Given the description of an element on the screen output the (x, y) to click on. 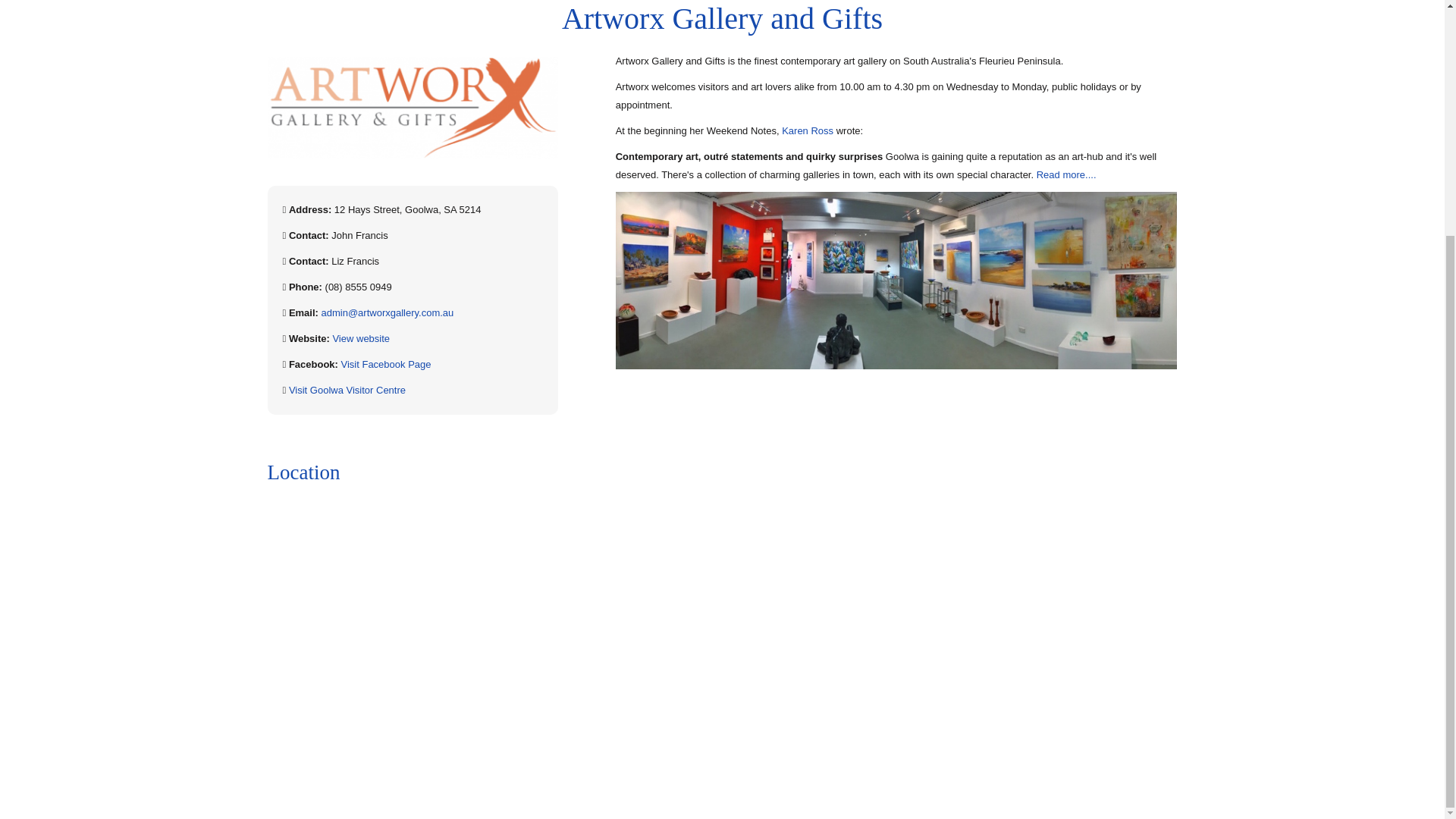
Visit Facebook Page (385, 364)
Read more.... (1066, 174)
Karen Ross (806, 130)
Visit Goolwa Visitor Centre (347, 389)
View website (360, 337)
